Given the description of an element on the screen output the (x, y) to click on. 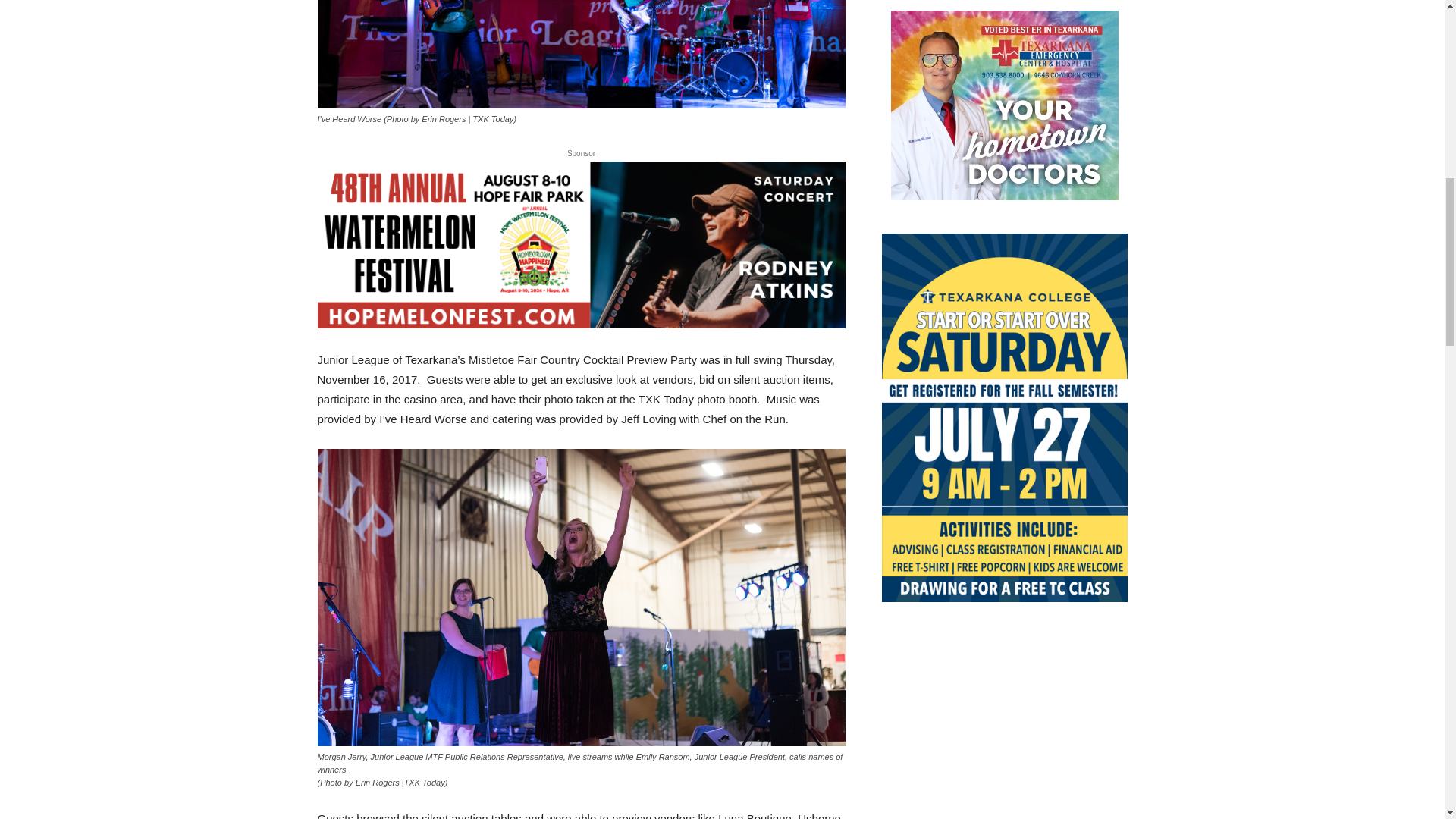
Hope Watermelon Festival 24 728 (580, 244)
TXKMTF (580, 54)
